Given the description of an element on the screen output the (x, y) to click on. 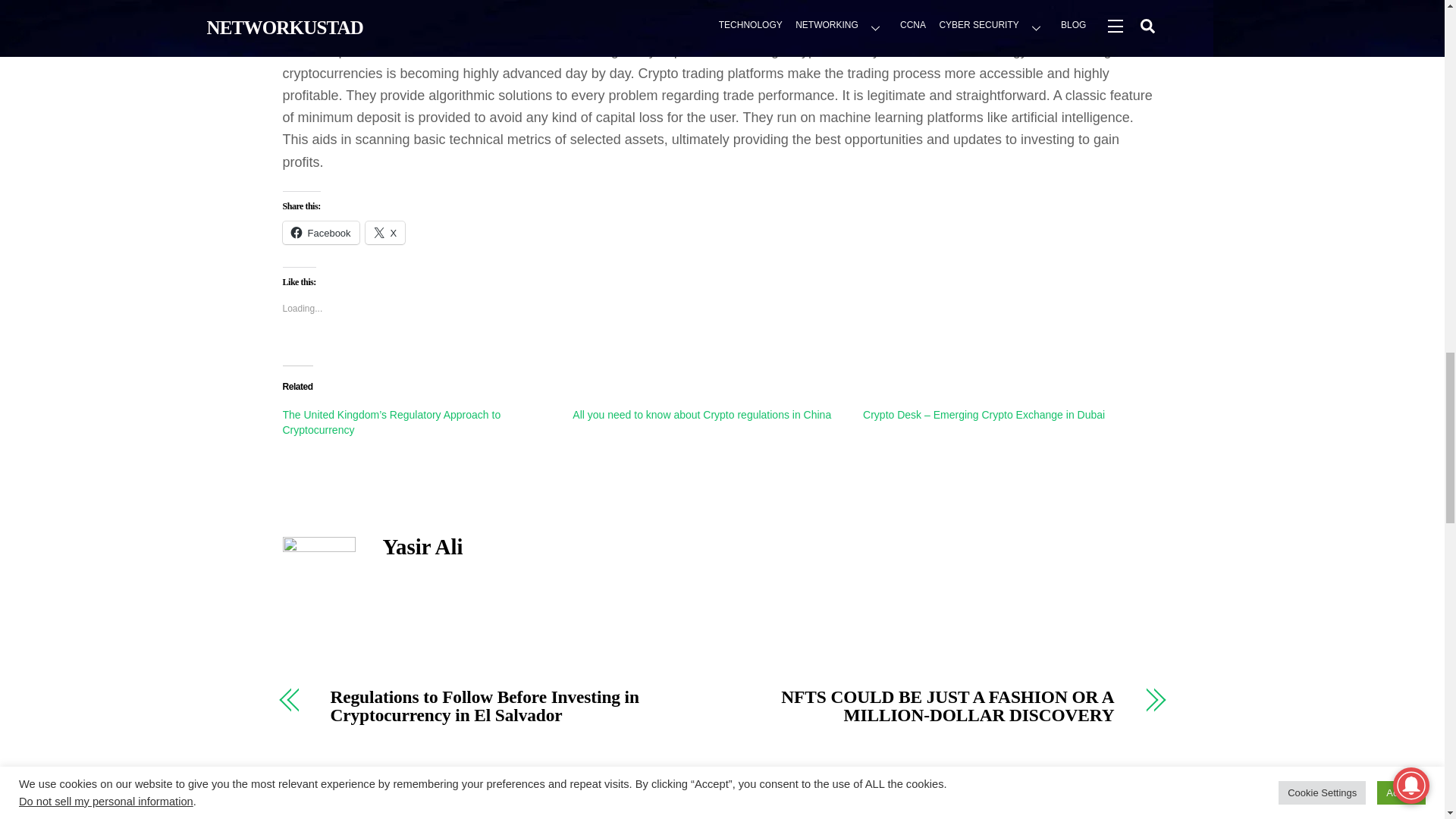
Click to share on X (385, 232)
NFTS COULD BE JUST A FASHION OR A MILLION-DOLLAR DISCOVERY (930, 705)
Click to share on Facebook (320, 232)
Facebook (320, 232)
All you need to know about Crypto regulations in China (701, 414)
All you need to know about Crypto regulations in China (701, 414)
X (385, 232)
